Given the description of an element on the screen output the (x, y) to click on. 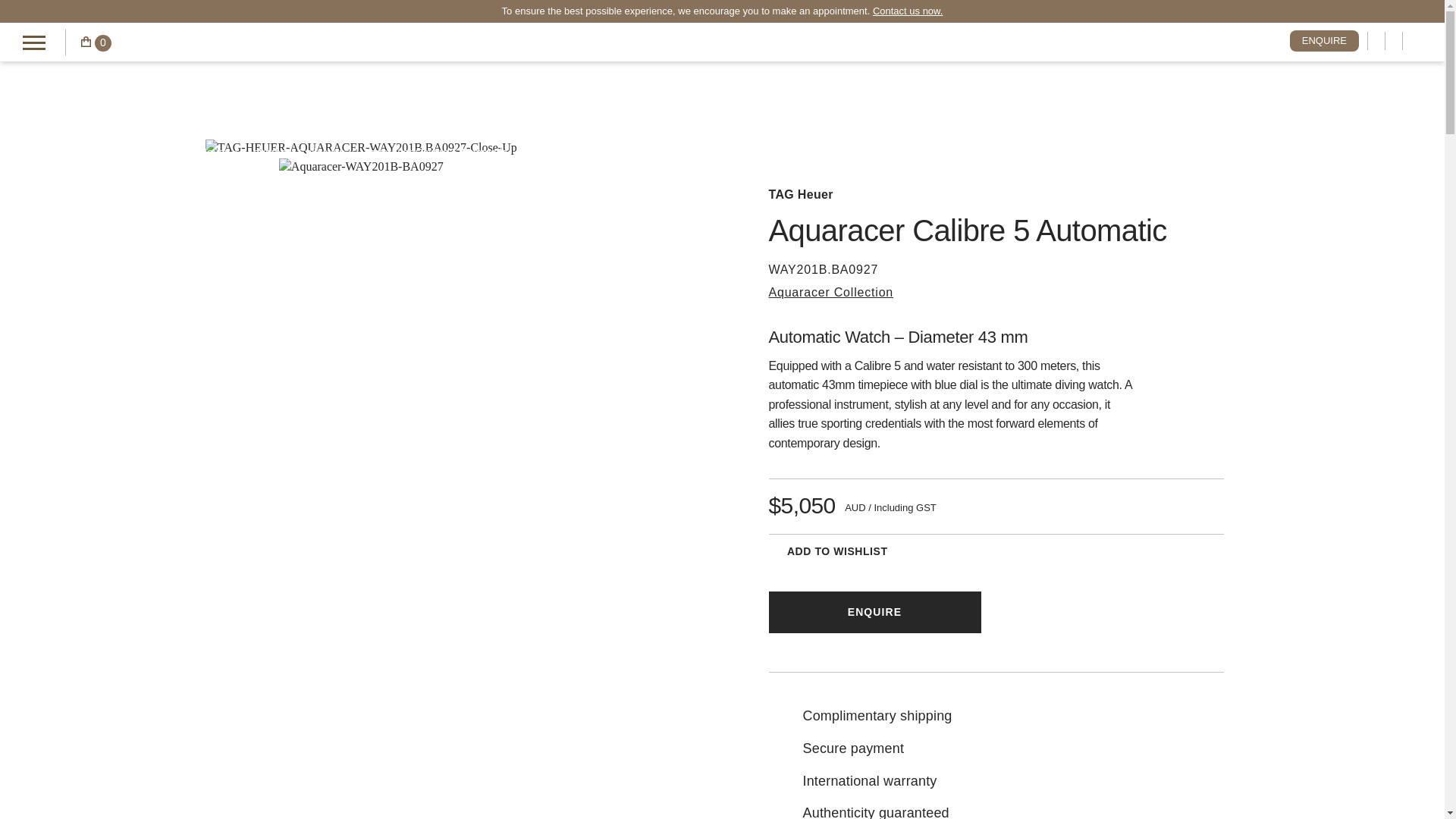
Contact us now. (907, 10)
ENQUIRE (1324, 41)
0 (95, 41)
